Given the description of an element on the screen output the (x, y) to click on. 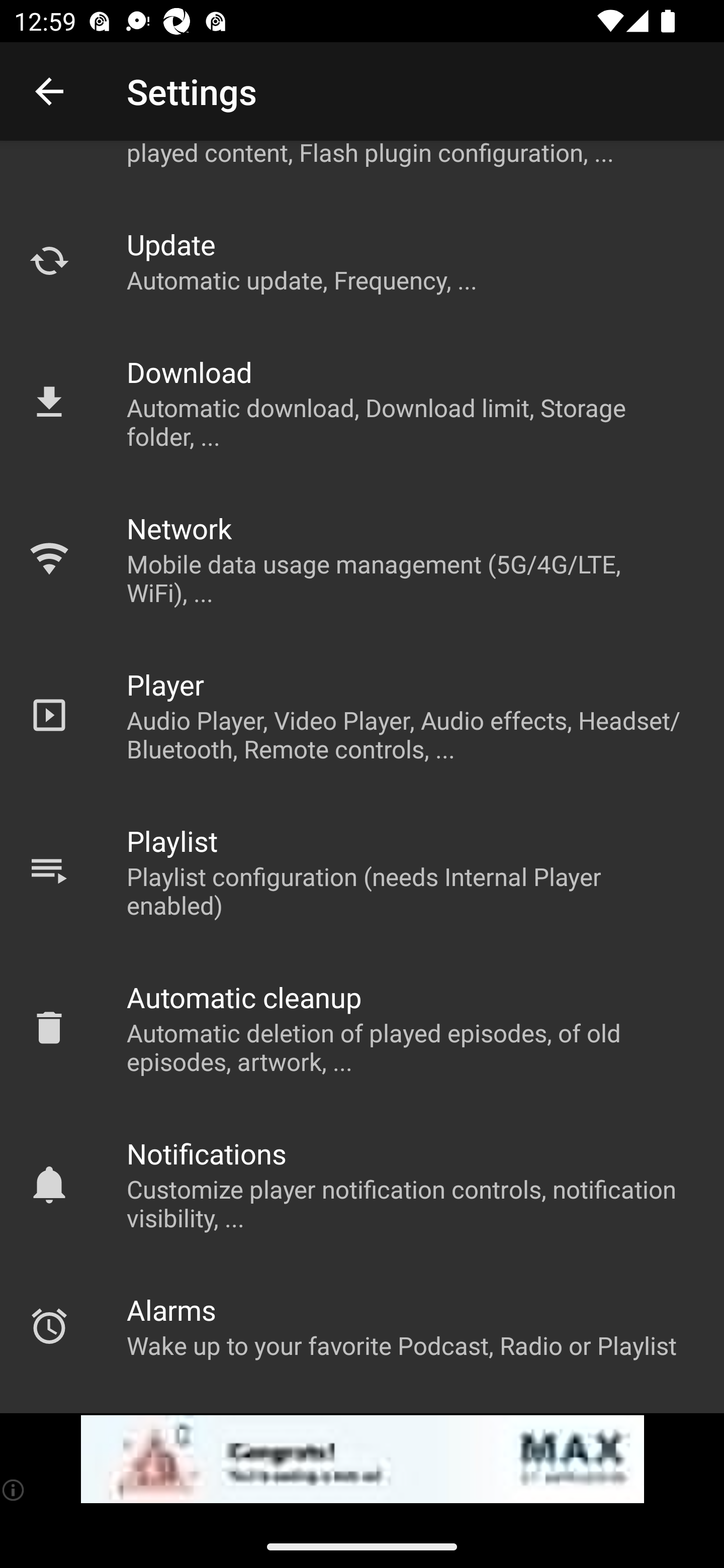
Navigate up (49, 91)
Update Automatic update, Frequency, ... (362, 260)
app-monetization (362, 1459)
(i) (14, 1489)
